Given the description of an element on the screen output the (x, y) to click on. 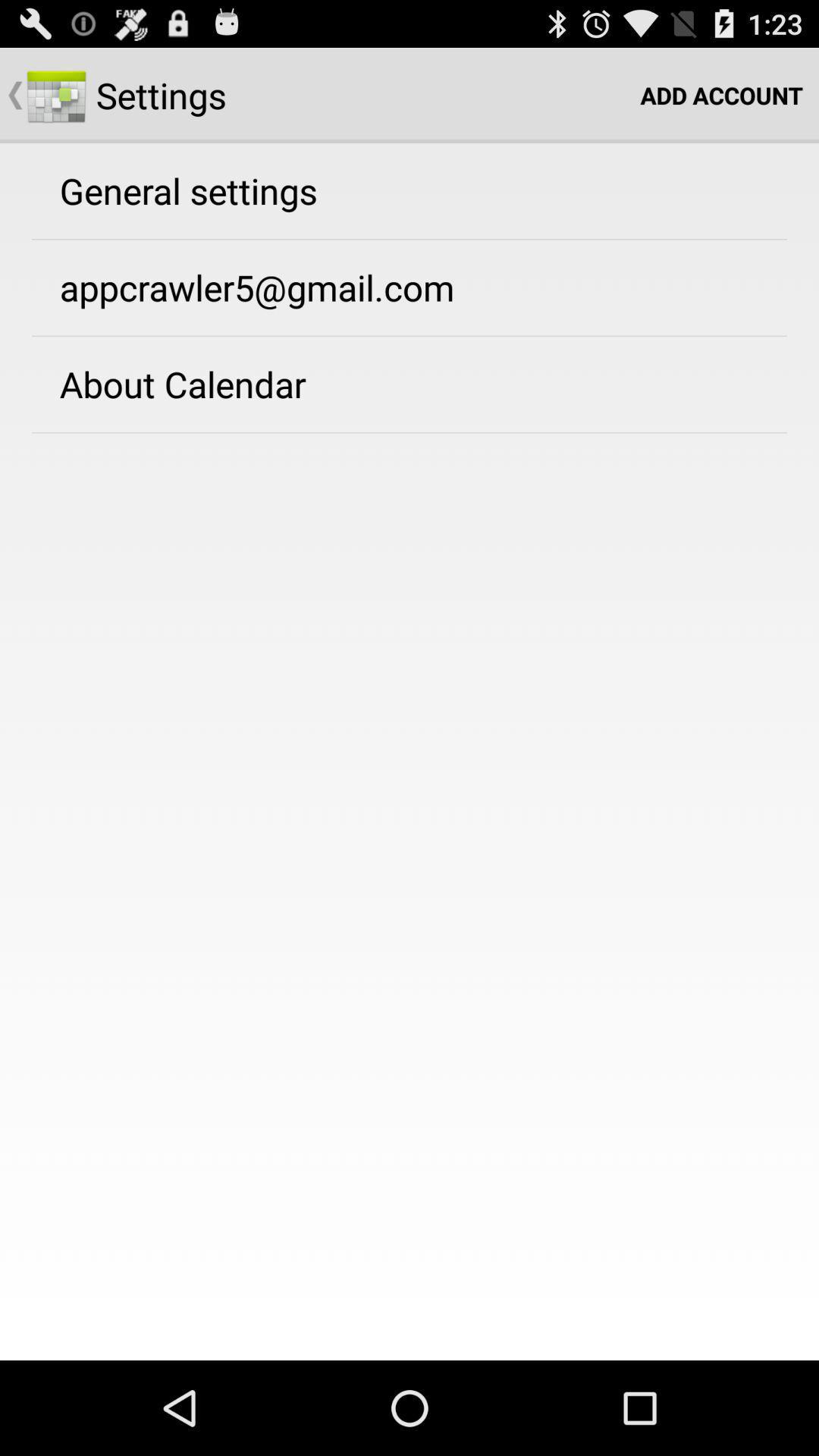
scroll until the general settings app (188, 190)
